Given the description of an element on the screen output the (x, y) to click on. 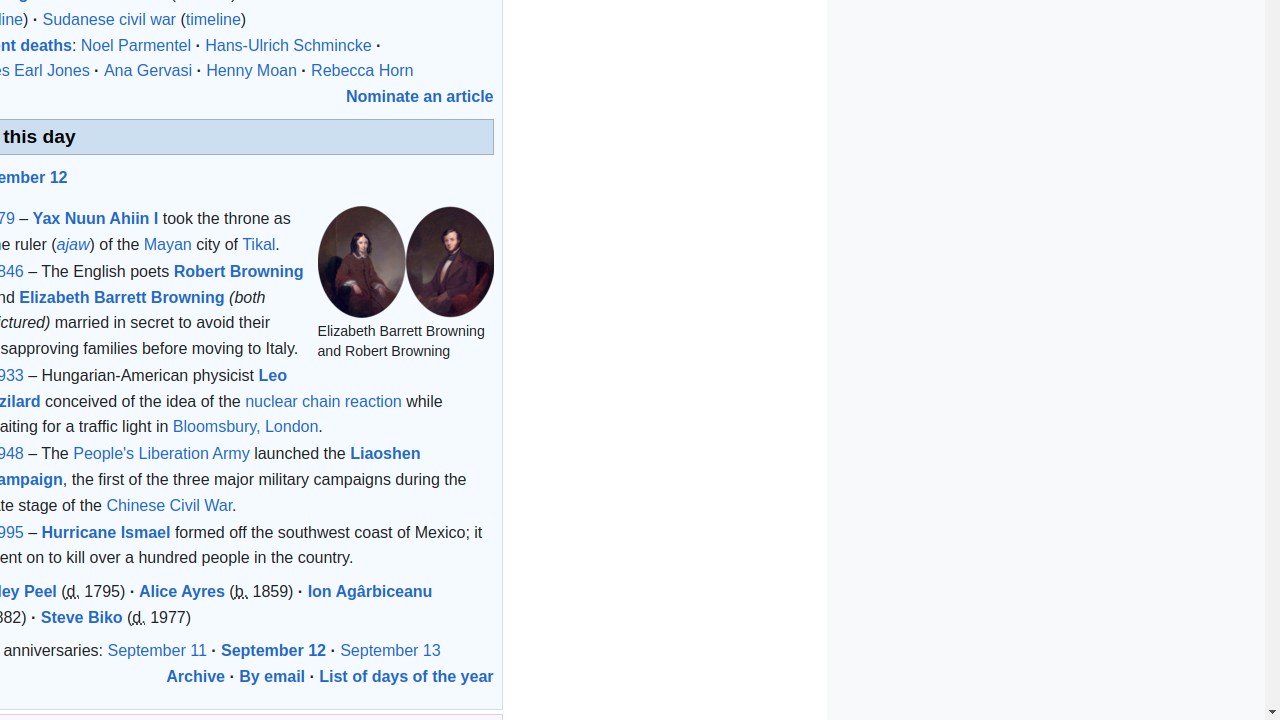
Rebecca Horn Element type: link (362, 71)
Steve Biko Element type: link (81, 617)
Bloomsbury, London Element type: link (245, 426)
Ion Agârbiceanu Element type: link (370, 591)
